Given the description of an element on the screen output the (x, y) to click on. 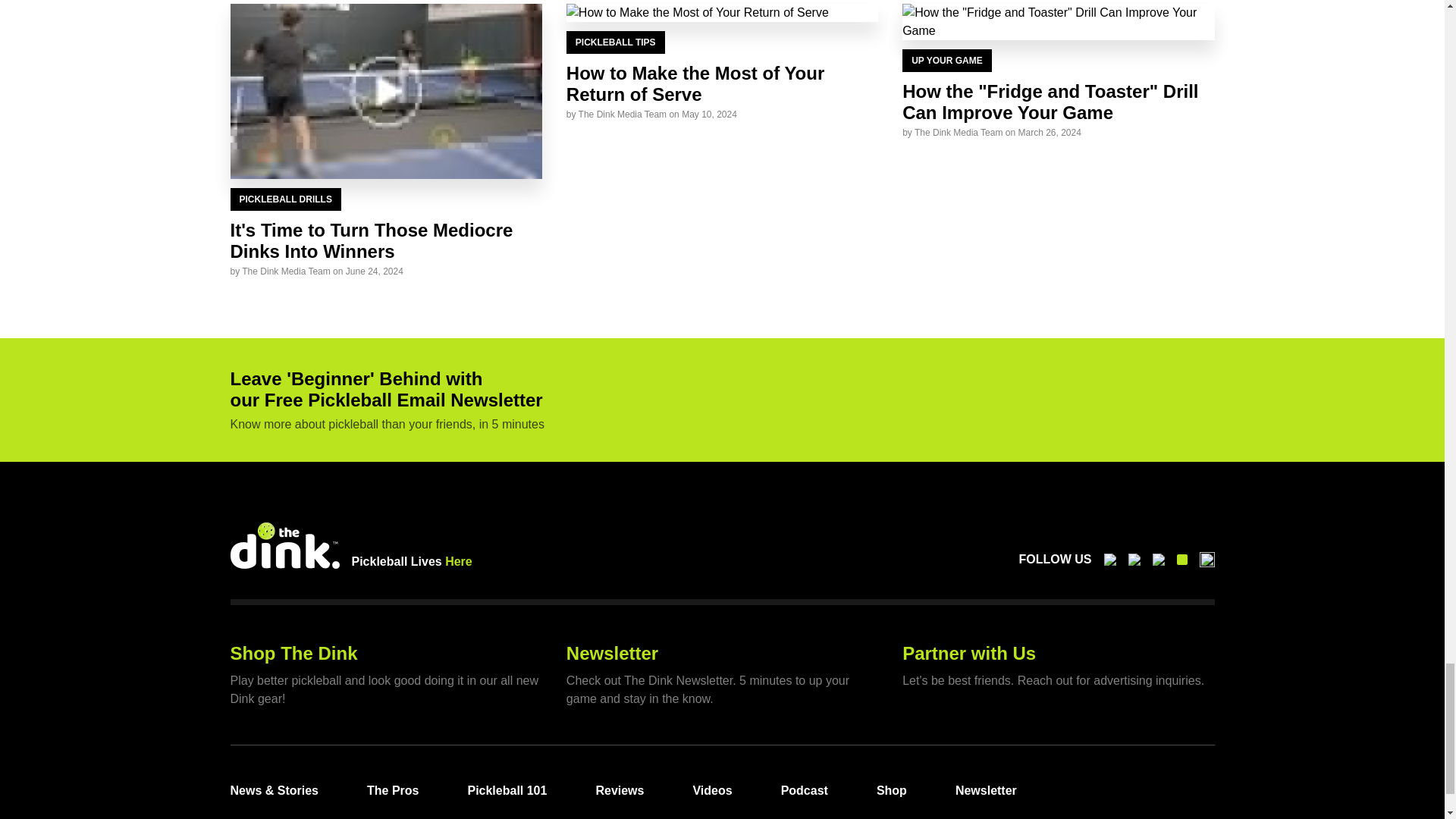
Shop The Dink (294, 652)
Partner with Us (968, 652)
Newsletter (612, 652)
